Given the description of an element on the screen output the (x, y) to click on. 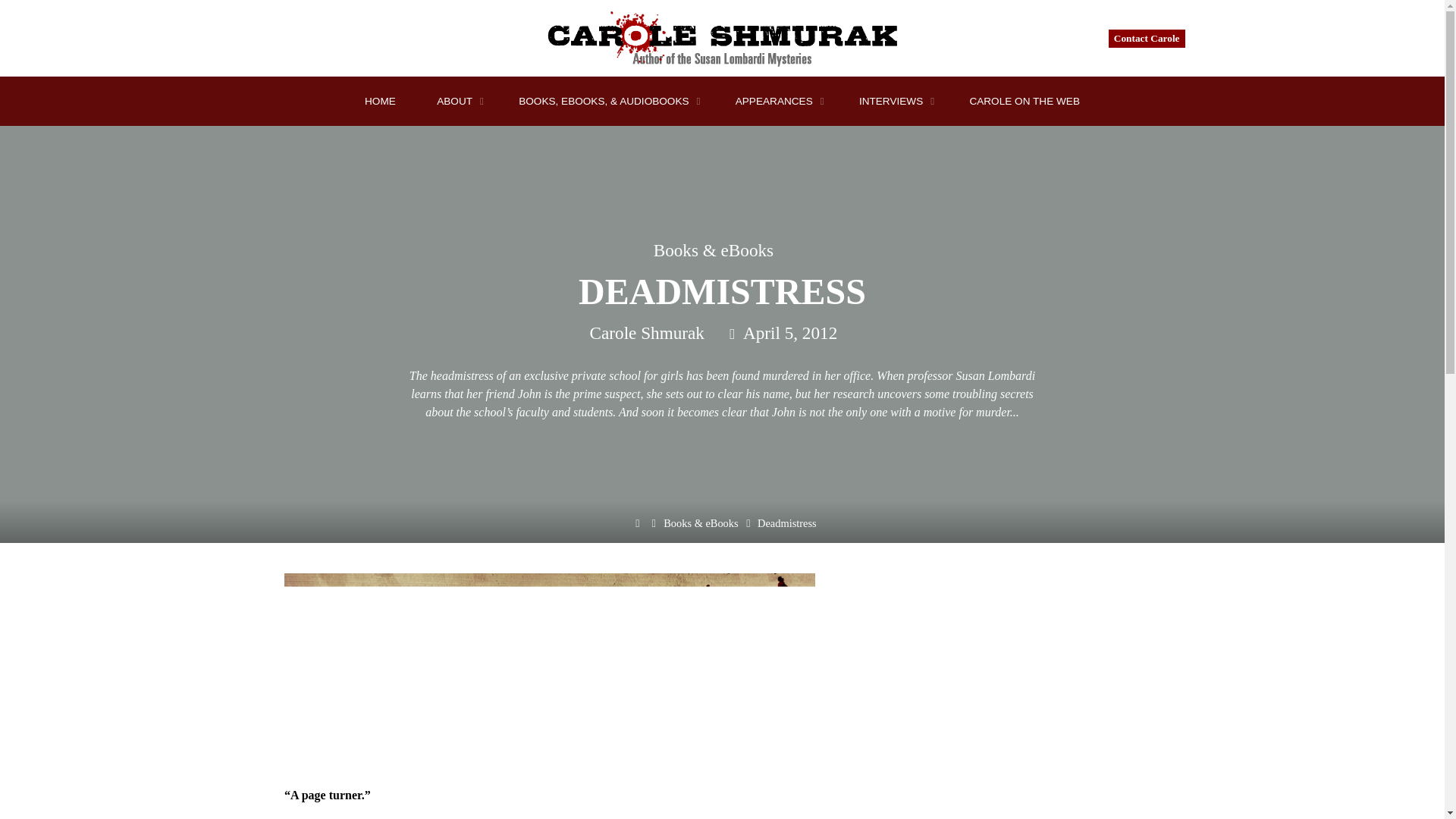
Carole Shmurak (646, 332)
View all posts by Carole Shmurak (646, 332)
Home (636, 527)
Contact Carole (1146, 38)
ABOUT (456, 101)
INTERVIEWS (893, 101)
Carole Shmurak, Author of The Susan Lombardi Mysteries (722, 36)
HOME (379, 101)
CAROLE ON THE WEB (1024, 101)
APPEARANCES (776, 101)
Date (732, 333)
